Given the description of an element on the screen output the (x, y) to click on. 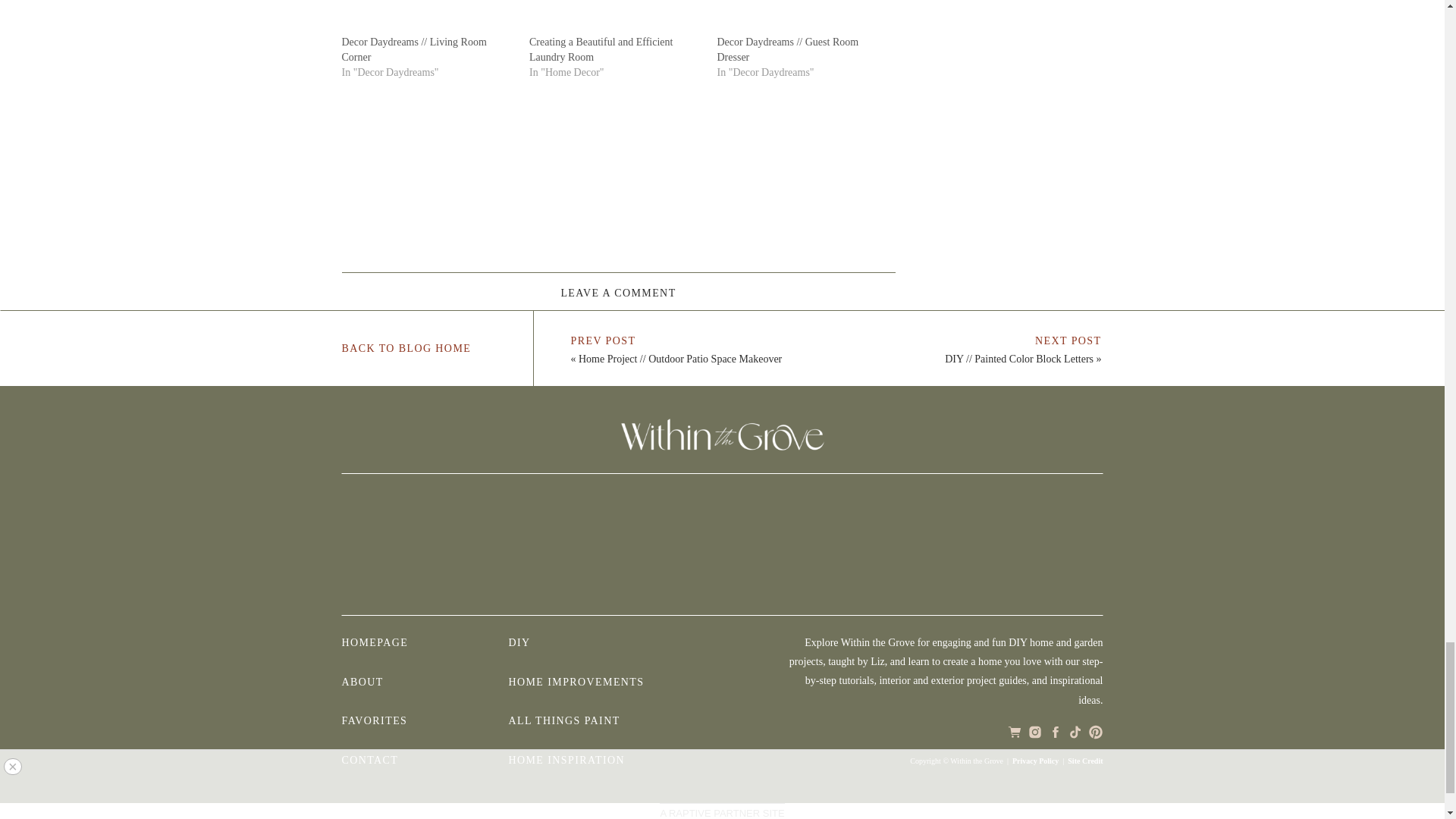
Creating a Beautiful and Efficient Laundry Room (615, 17)
Creating a Beautiful and Efficient Laundry Room (600, 49)
5D885D38-87FE-4411-B1D7-D99D2C51D777 (400, 544)
